Given the description of an element on the screen output the (x, y) to click on. 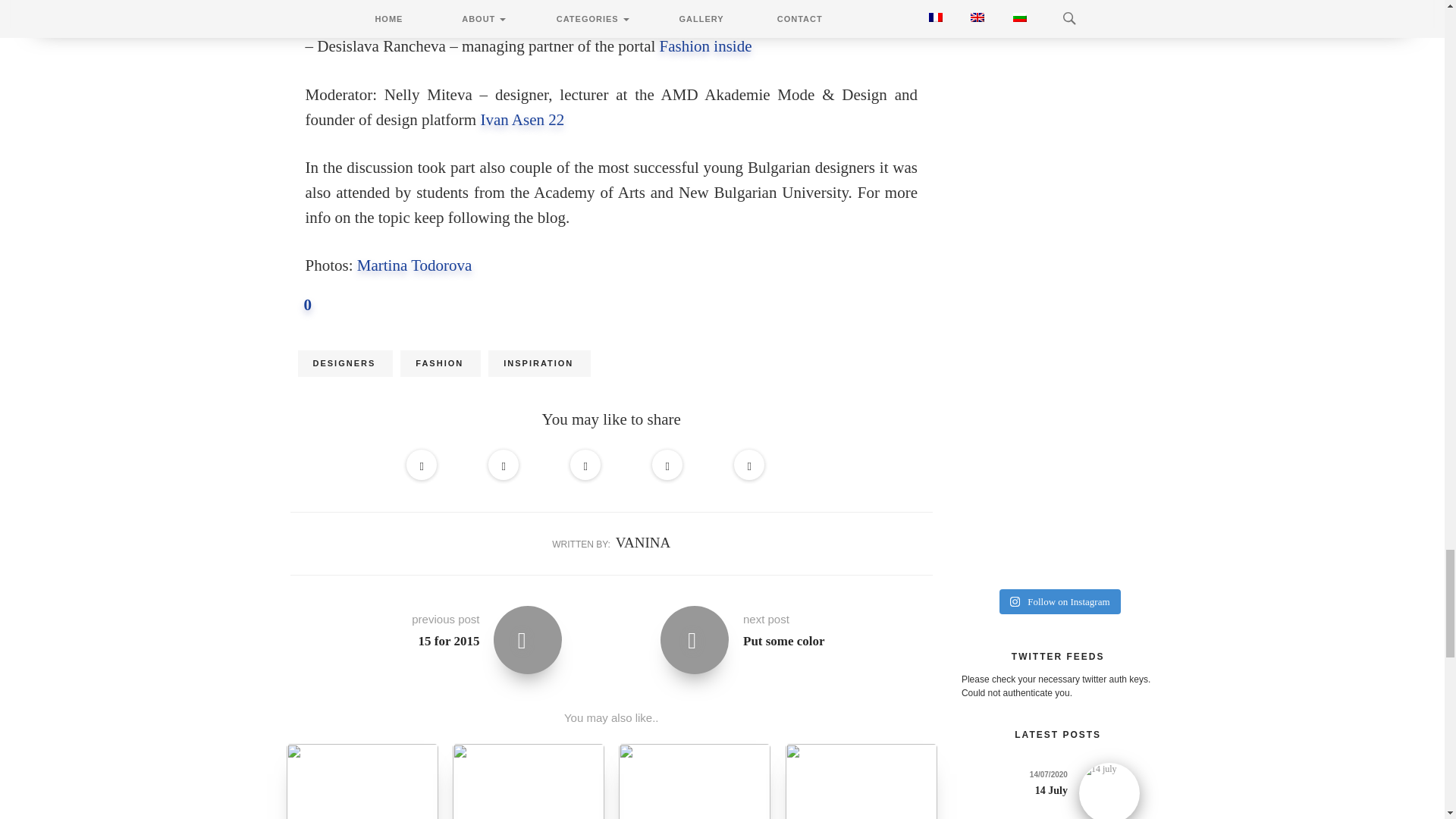
Ivan Asen 22 (522, 119)
Fashion inside (740, 3)
0 (300, 305)
DESIGNERS (345, 363)
Fashion inside (705, 45)
Martina Todorova (413, 265)
